Given the description of an element on the screen output the (x, y) to click on. 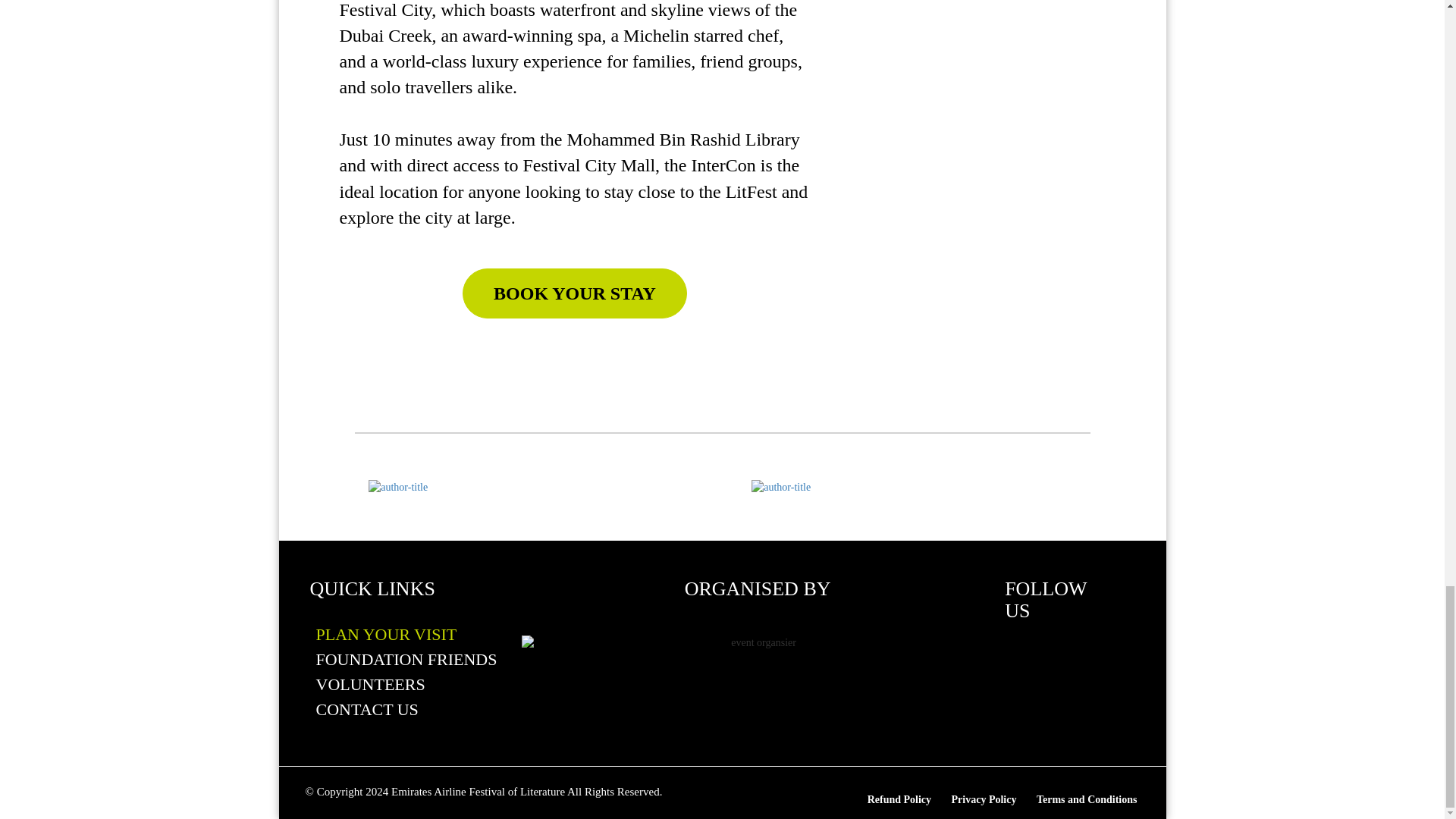
BOOK YOUR STAY (722, 293)
